Given the description of an element on the screen output the (x, y) to click on. 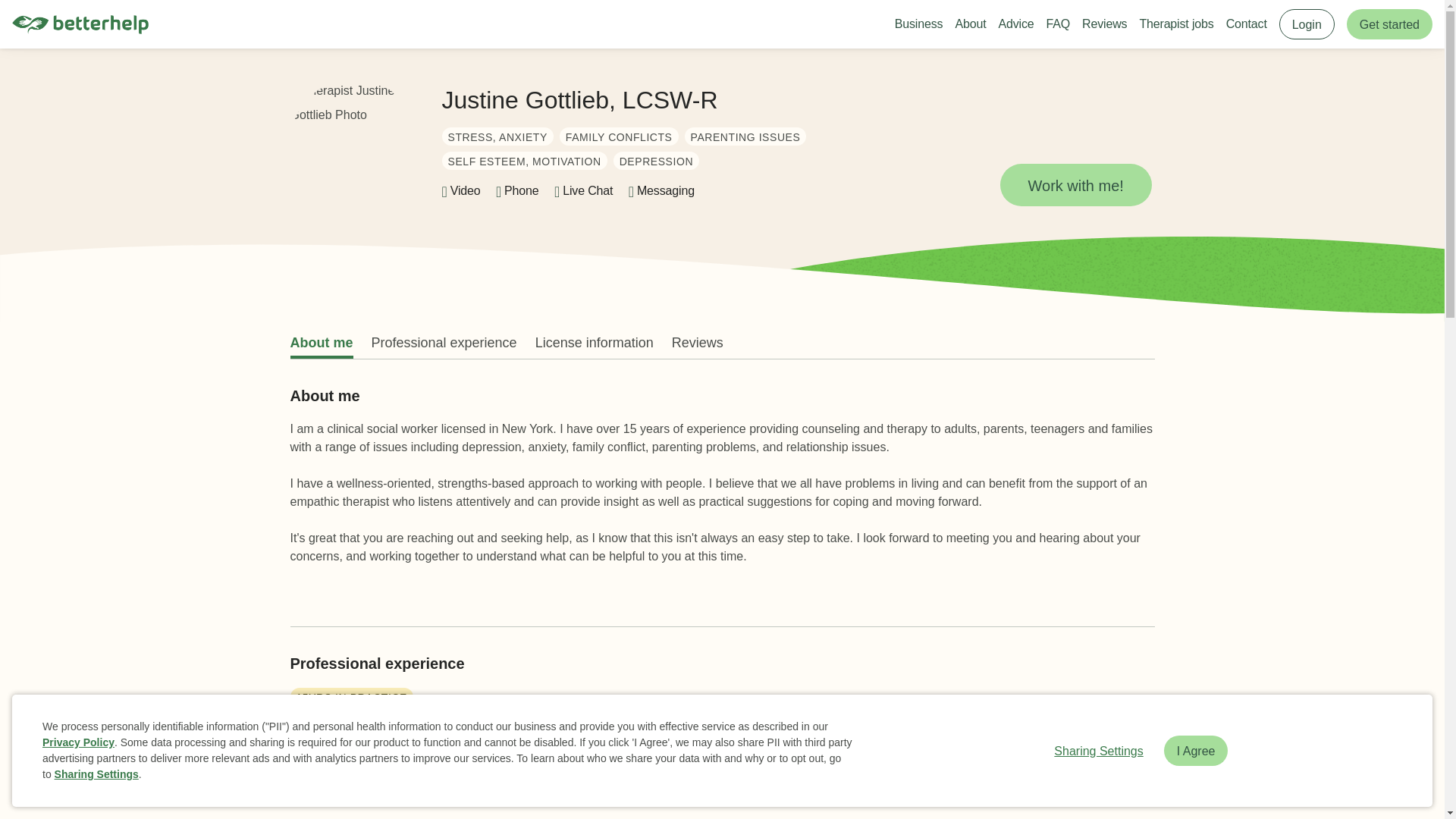
Therapist jobs (1175, 24)
Login (1307, 24)
Reviews (697, 342)
About me (320, 342)
Reviews (1103, 24)
Sharing Settings (96, 774)
Professional experience (443, 342)
Get started (1389, 24)
Business (919, 24)
Work with me! (1074, 184)
